Given the description of an element on the screen output the (x, y) to click on. 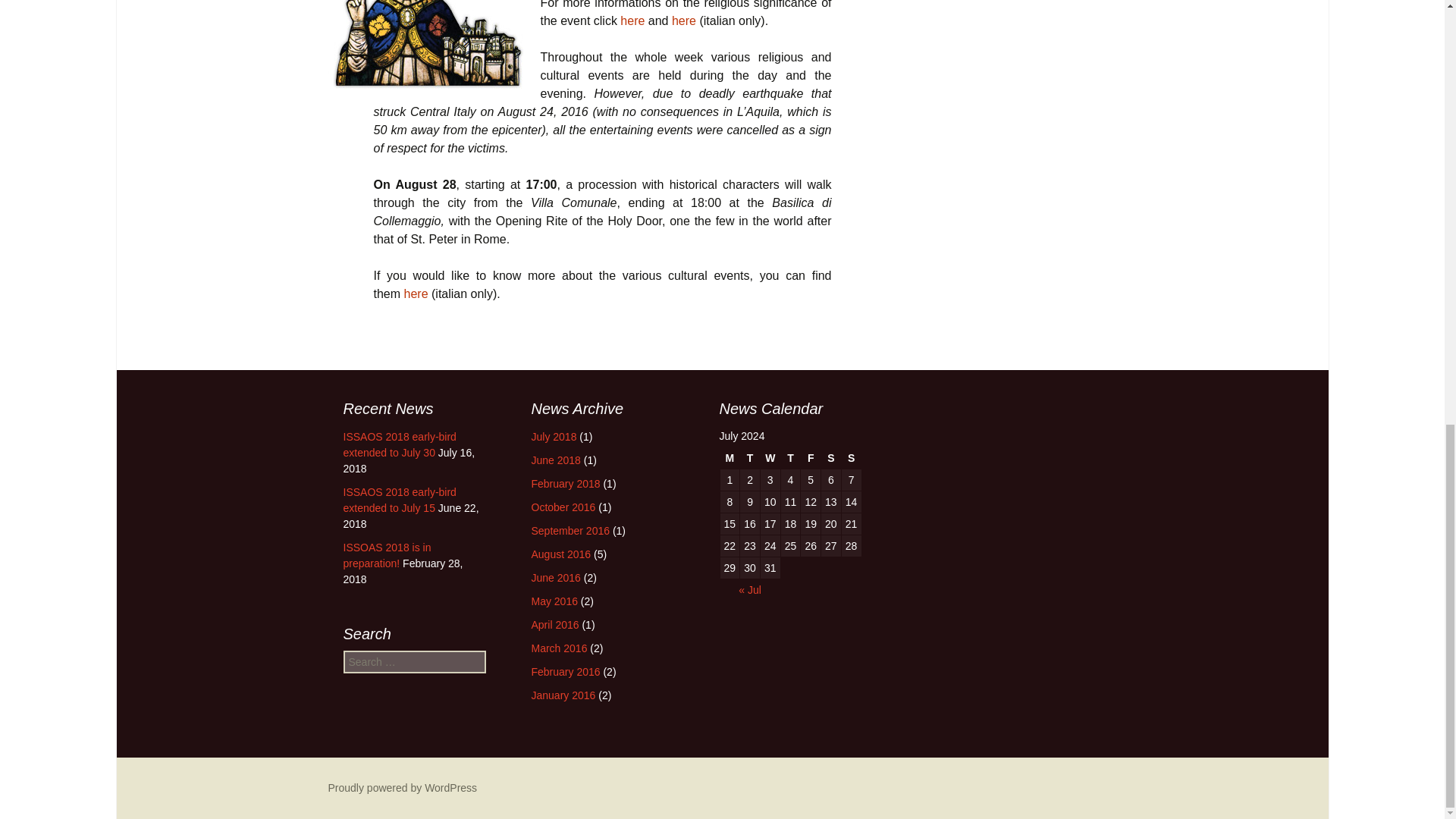
Semantic Personal Publishing Platform (402, 787)
Search for: (413, 661)
Thursday (790, 457)
Monday (729, 457)
Sunday (851, 457)
Wednesday (770, 457)
Tuesday (749, 457)
Saturday (831, 457)
Friday (810, 457)
